Given the description of an element on the screen output the (x, y) to click on. 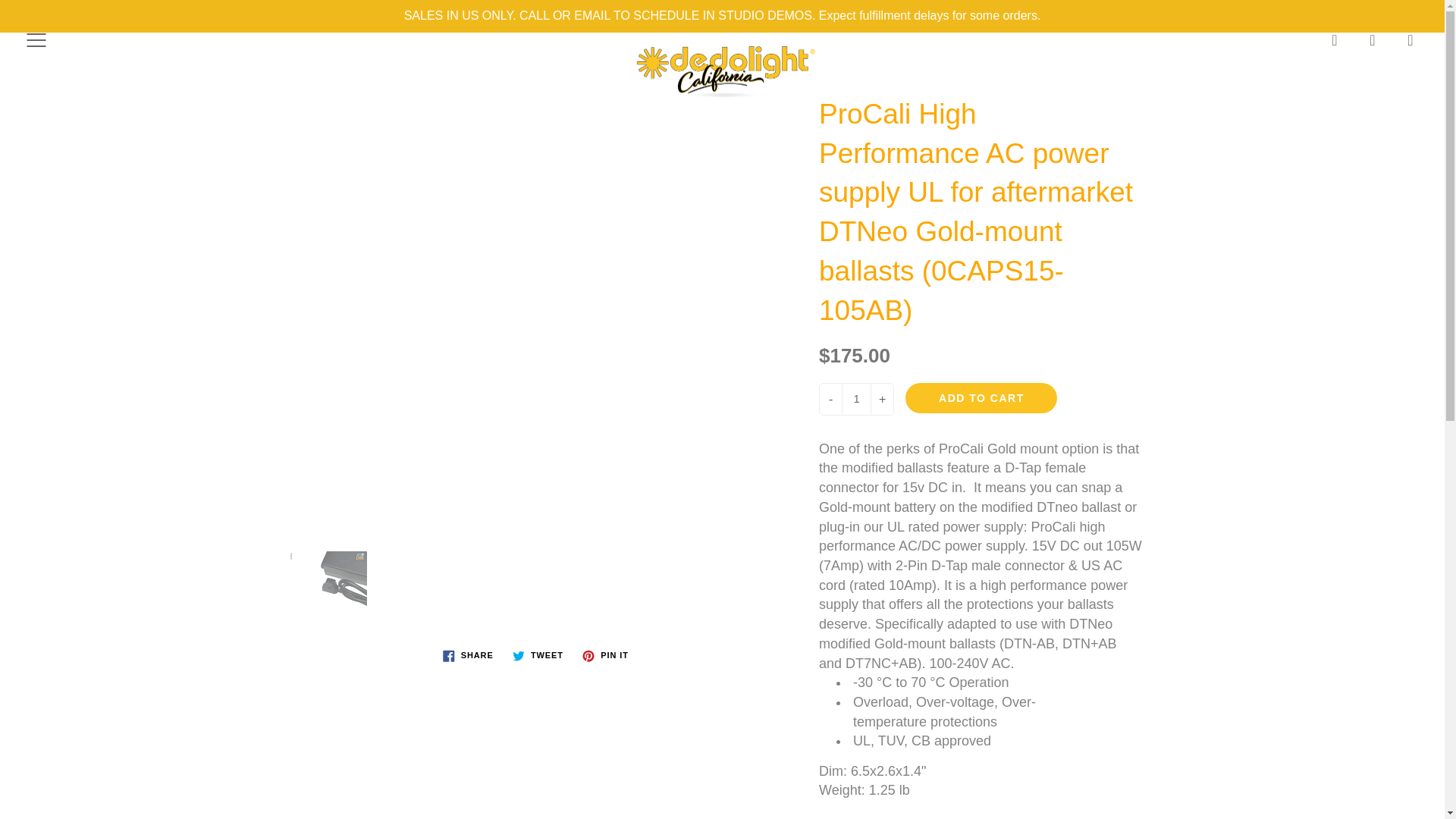
Tweet on Twitter (537, 656)
Pin on Pinterest (604, 656)
You have 0 items in your cart (1410, 39)
Search (1334, 39)
My account (1372, 39)
Share on Facebook (467, 656)
Press space bar to toggle menu (36, 39)
1 (855, 399)
